Given the description of an element on the screen output the (x, y) to click on. 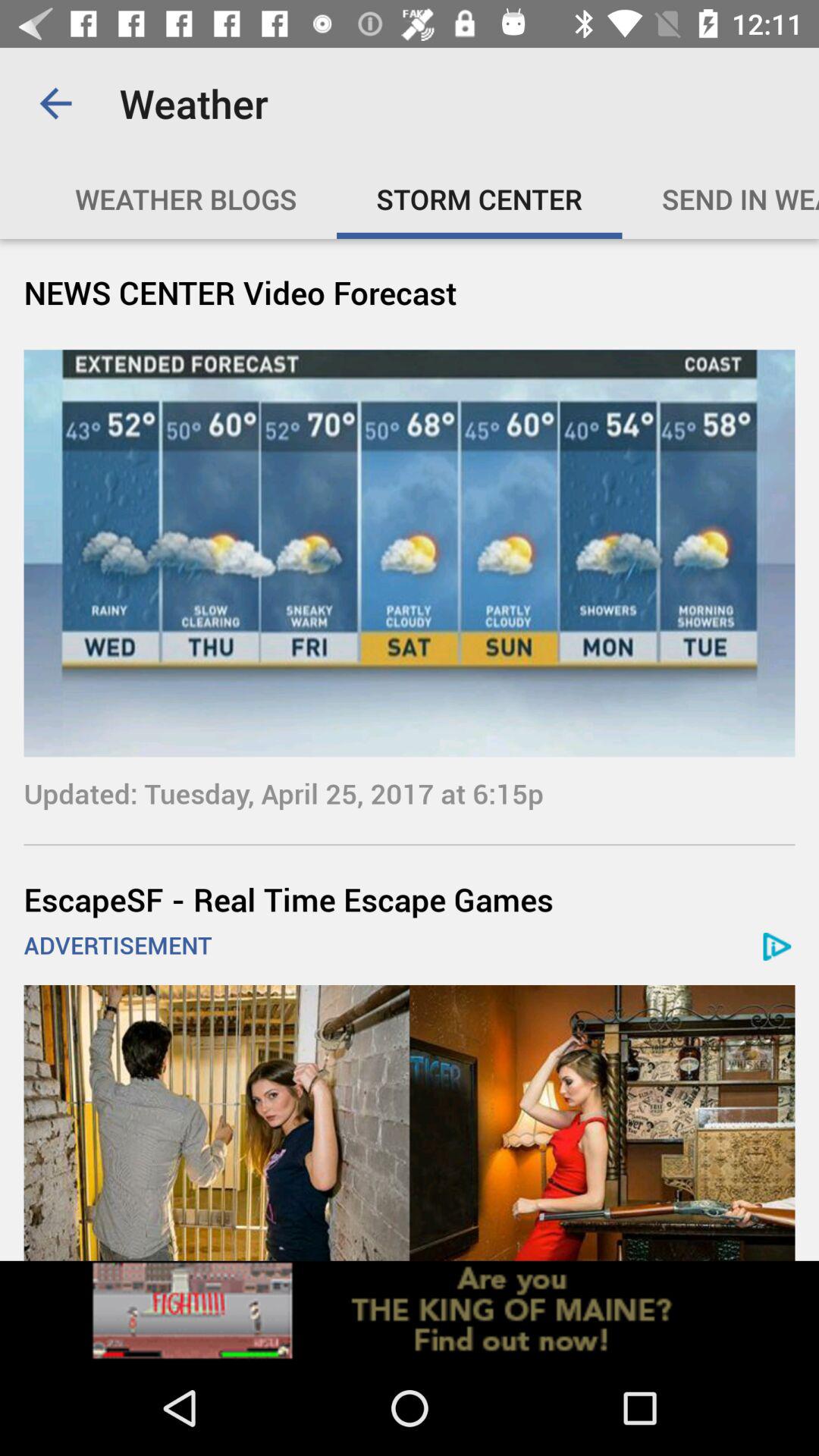
advertisement (409, 1310)
